Given the description of an element on the screen output the (x, y) to click on. 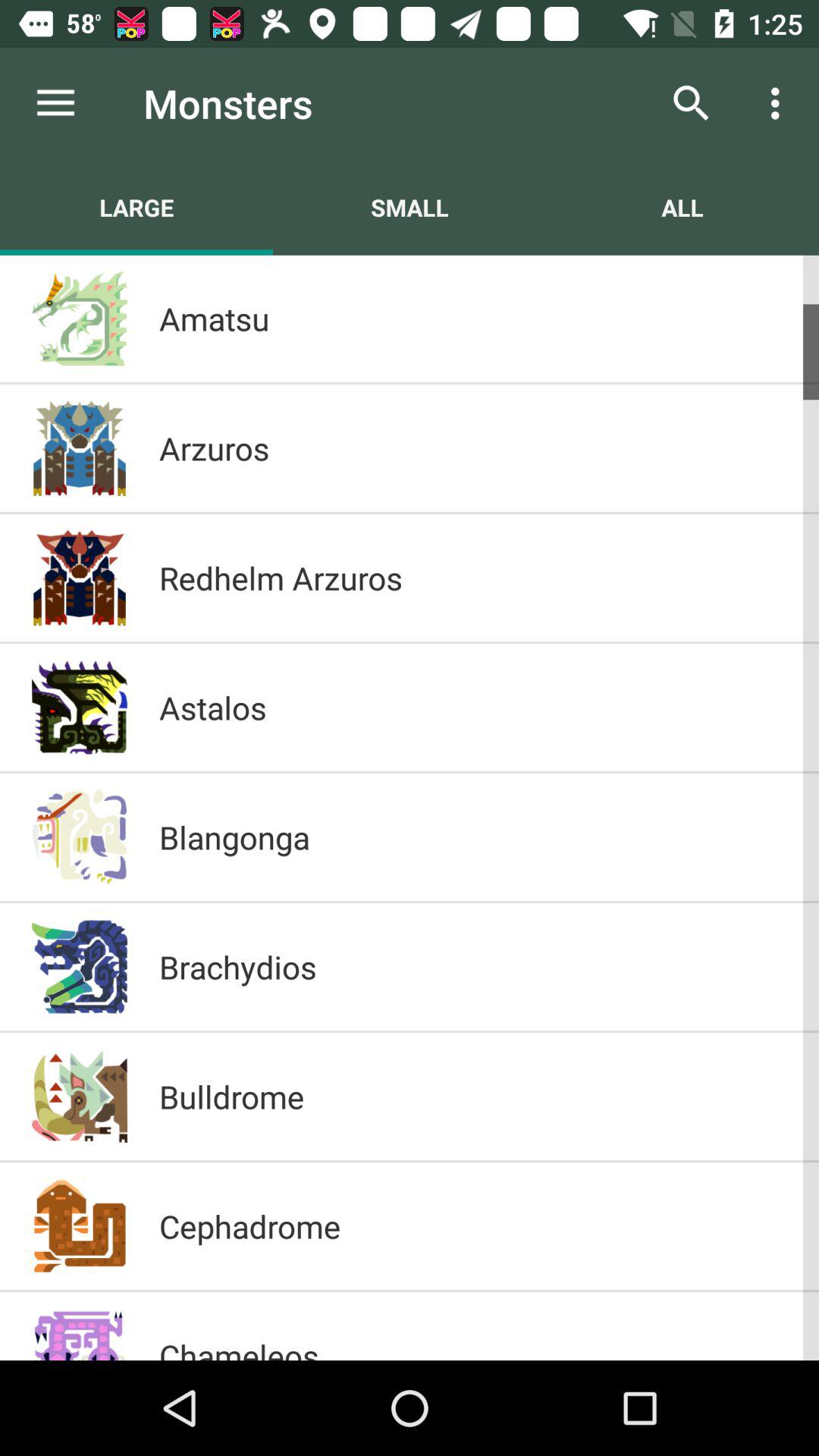
turn off icon next to the large item (409, 207)
